Given the description of an element on the screen output the (x, y) to click on. 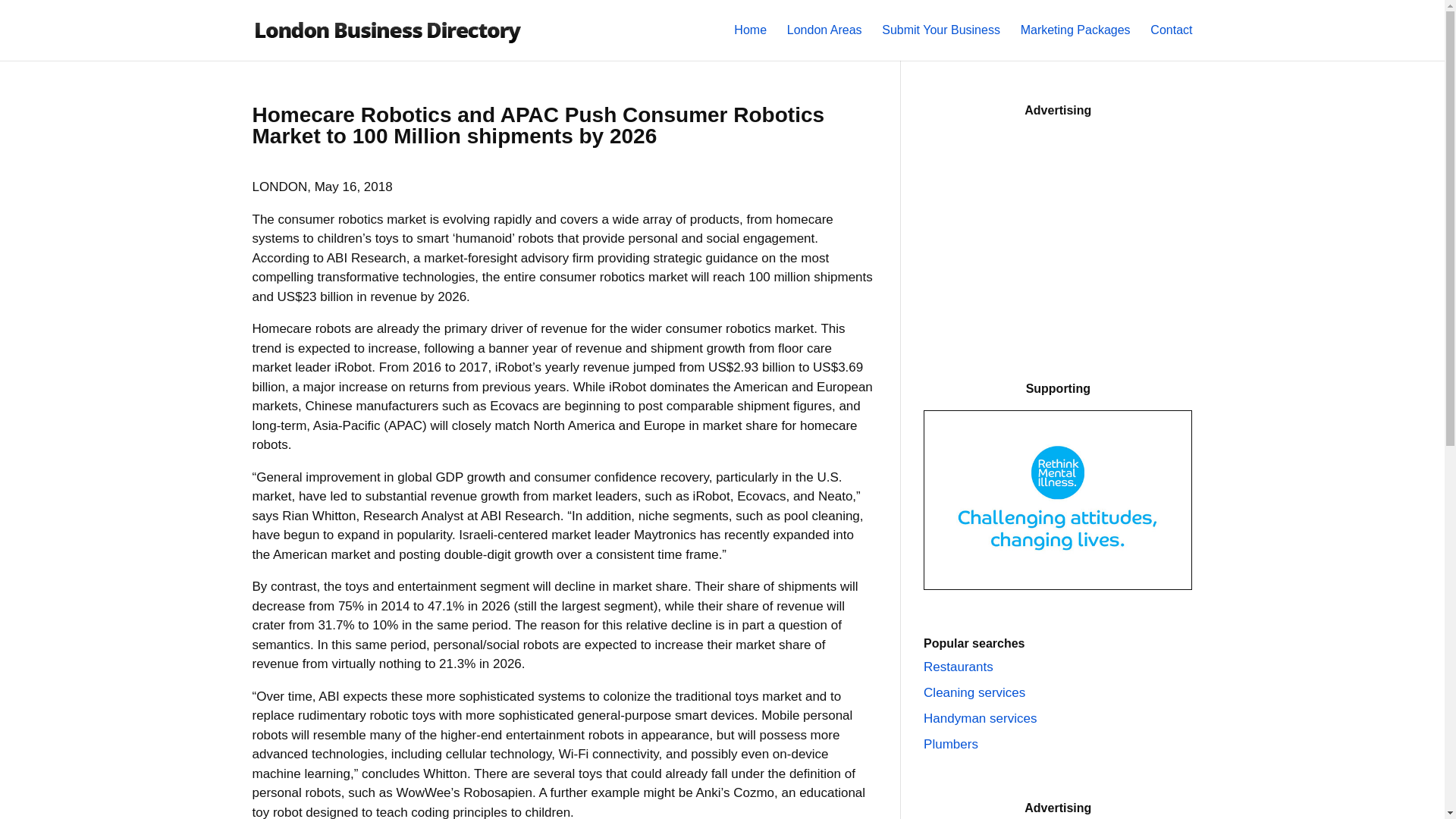
Submit Your Business (941, 42)
Home (750, 42)
Marketing Packages (1075, 42)
Cleaning services (974, 692)
London Areas (824, 42)
Plumbers (950, 744)
Handyman services (979, 718)
Contact (1171, 42)
Restaurants (957, 667)
Advertisement (1057, 237)
